Given the description of an element on the screen output the (x, y) to click on. 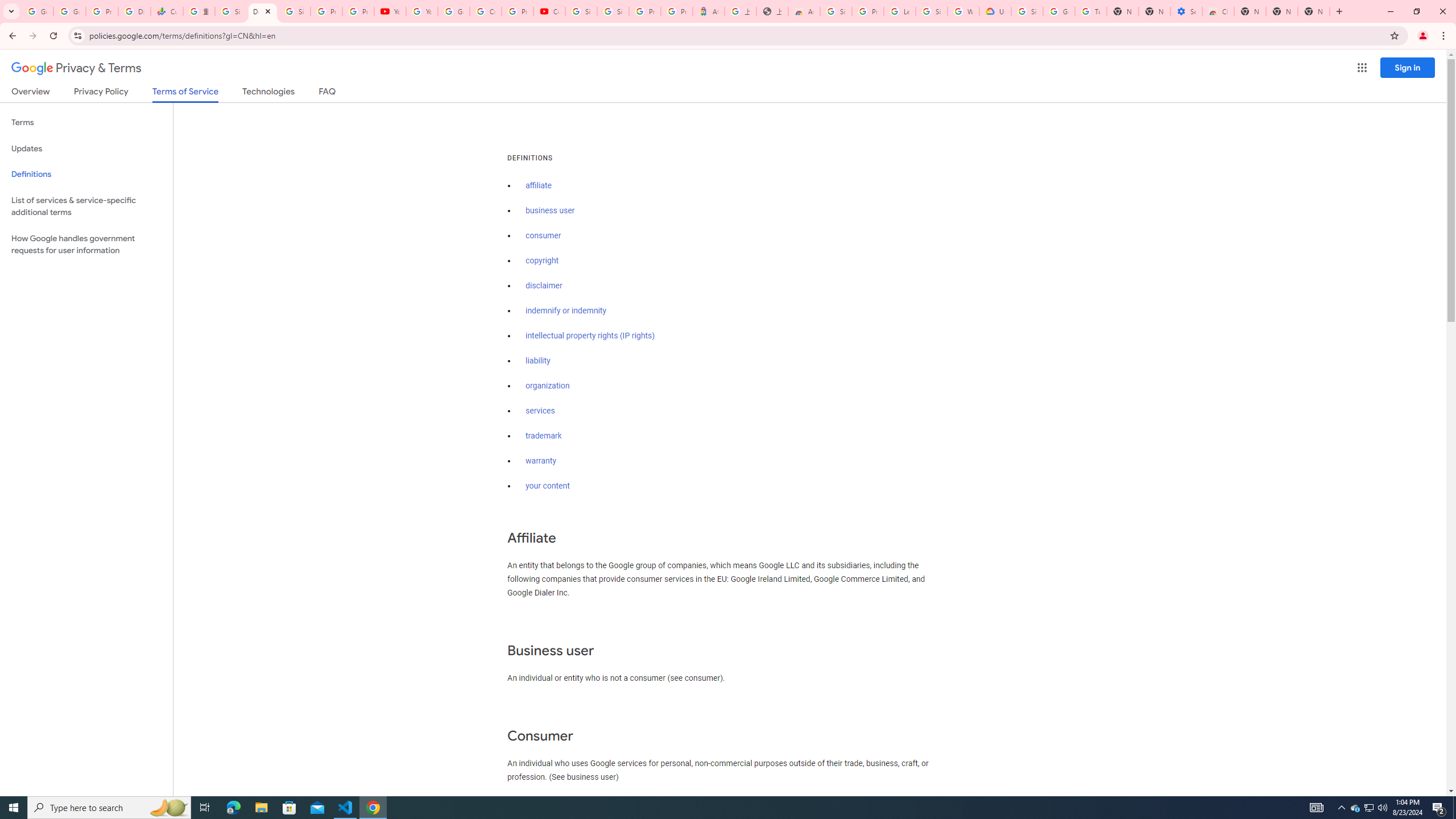
consumer (543, 235)
Chrome Web Store - Accessibility extensions (1217, 11)
Sign in - Google Accounts (294, 11)
business user (550, 210)
Atour Hotel - Google hotels (708, 11)
Sign in - Google Accounts (931, 11)
